Given the description of an element on the screen output the (x, y) to click on. 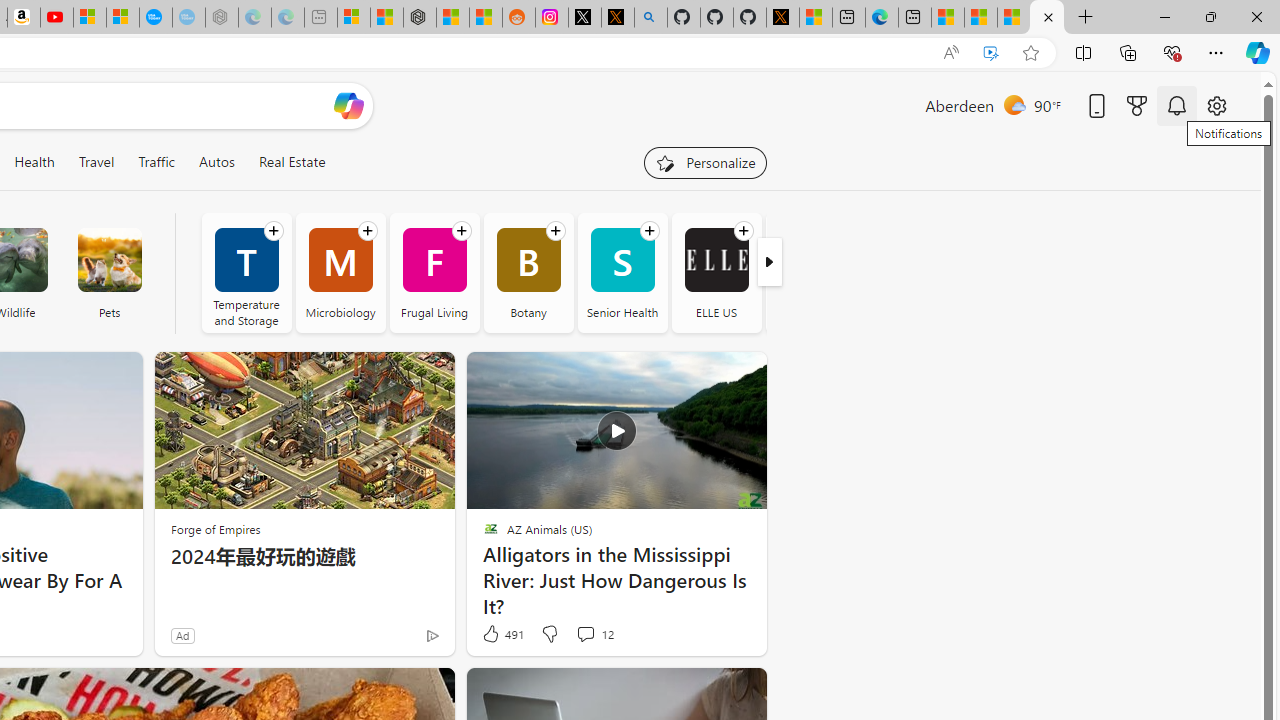
Forge of Empires (215, 529)
github - Search (650, 17)
Nordace - Duffels (420, 17)
Log in to X / X (585, 17)
Microbiology (340, 272)
Welcome to Microsoft Edge (882, 17)
